Given the description of an element on the screen output the (x, y) to click on. 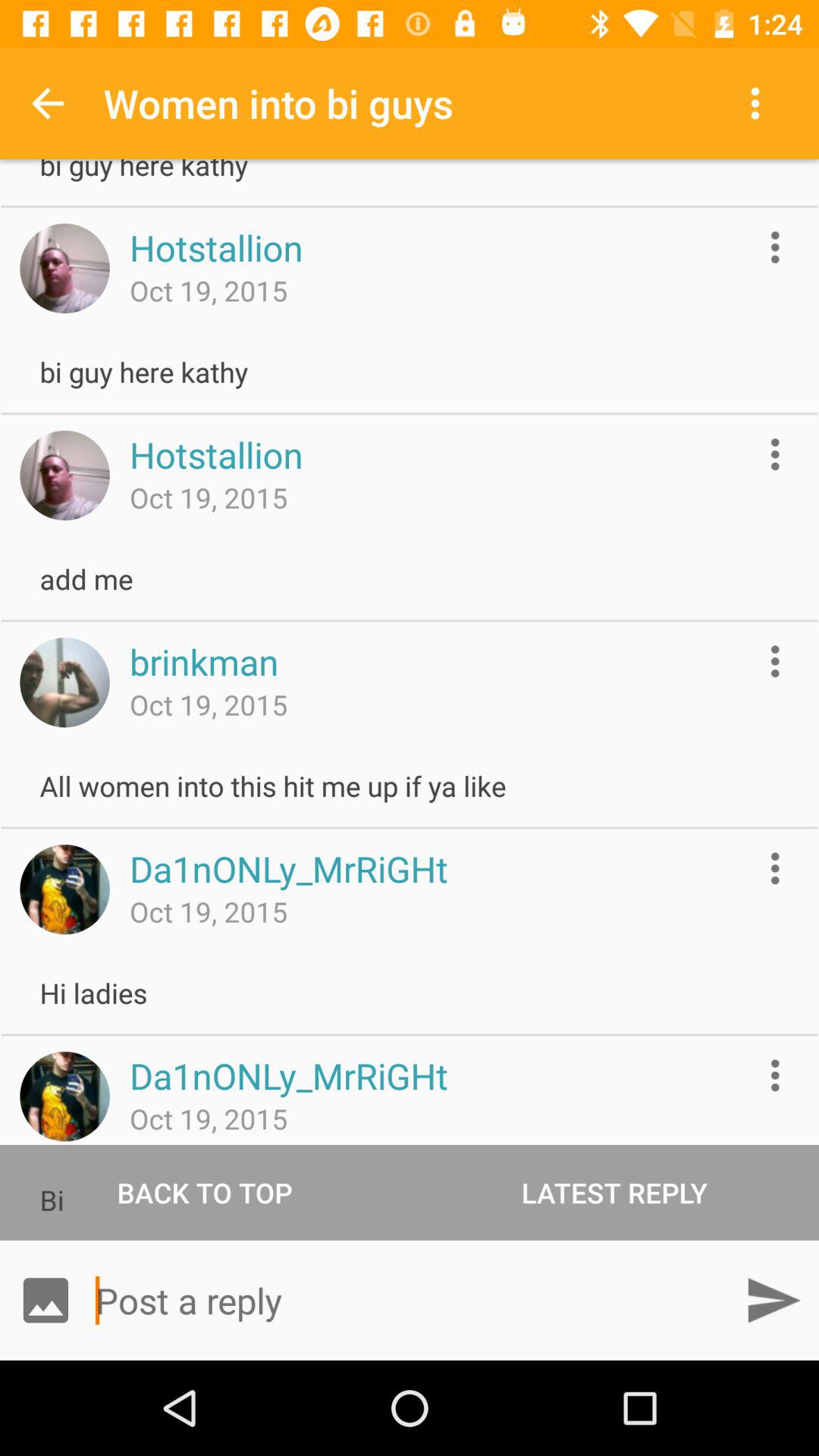
more options (775, 661)
